Given the description of an element on the screen output the (x, y) to click on. 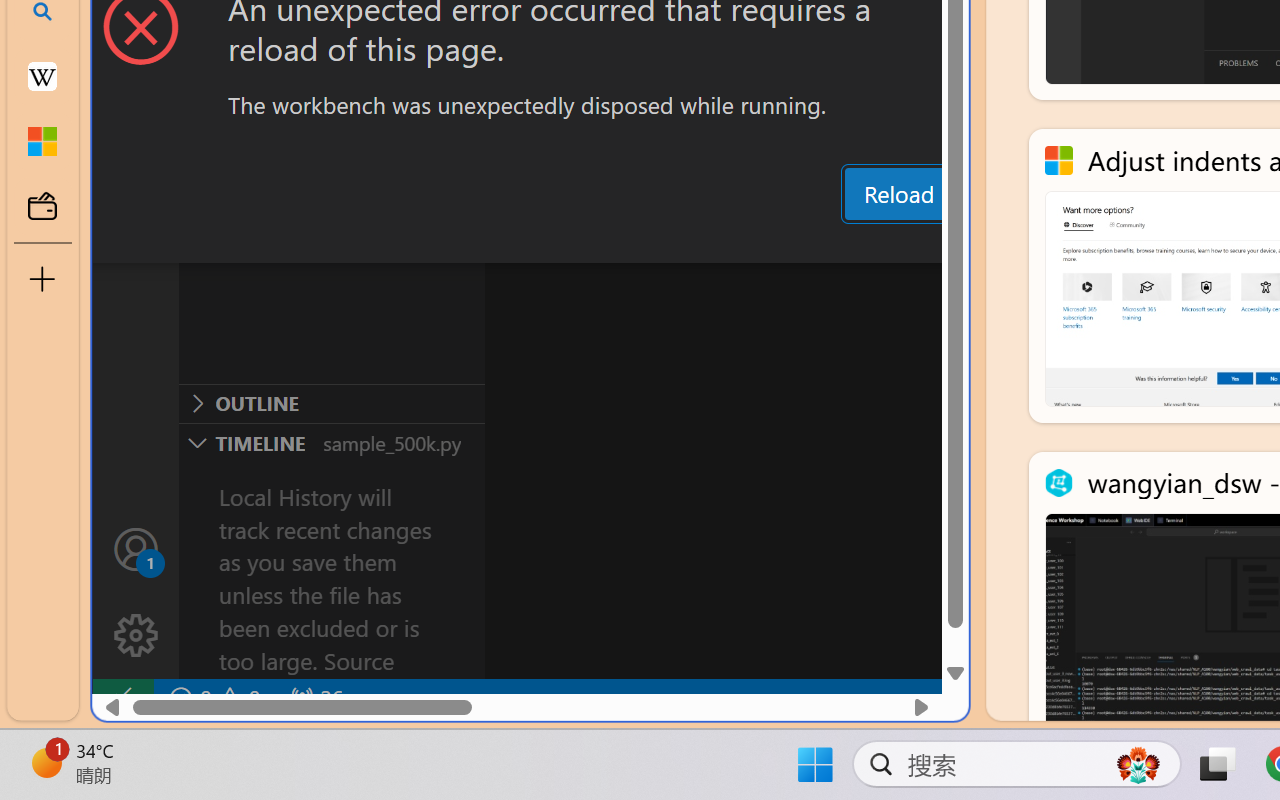
Reload (898, 193)
Debug Console (Ctrl+Shift+Y) (854, 243)
Terminal (Ctrl+`) (1021, 243)
Accounts - Sign in requested (135, 548)
Outline Section (331, 403)
Timeline Section (331, 442)
Manage (135, 635)
Manage (135, 591)
Output (Ctrl+Shift+U) (696, 243)
